Given the description of an element on the screen output the (x, y) to click on. 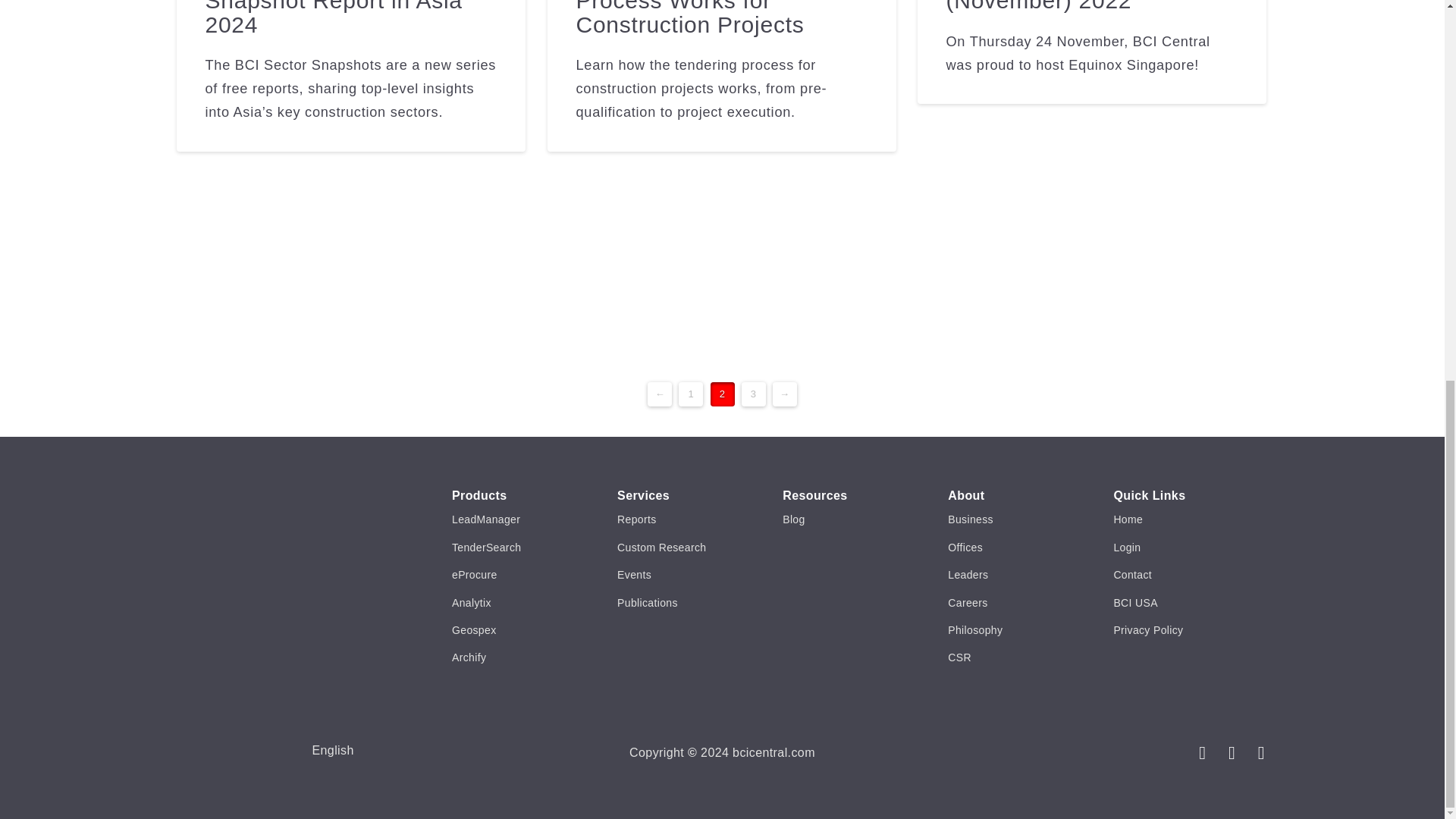
Office Construction Sector Snapshot Report in Asia 2024 (344, 18)
1 (690, 394)
3 (753, 394)
English (332, 750)
How the Tendering Process Works for Construction Projects (689, 18)
1 (690, 394)
